Given the description of an element on the screen output the (x, y) to click on. 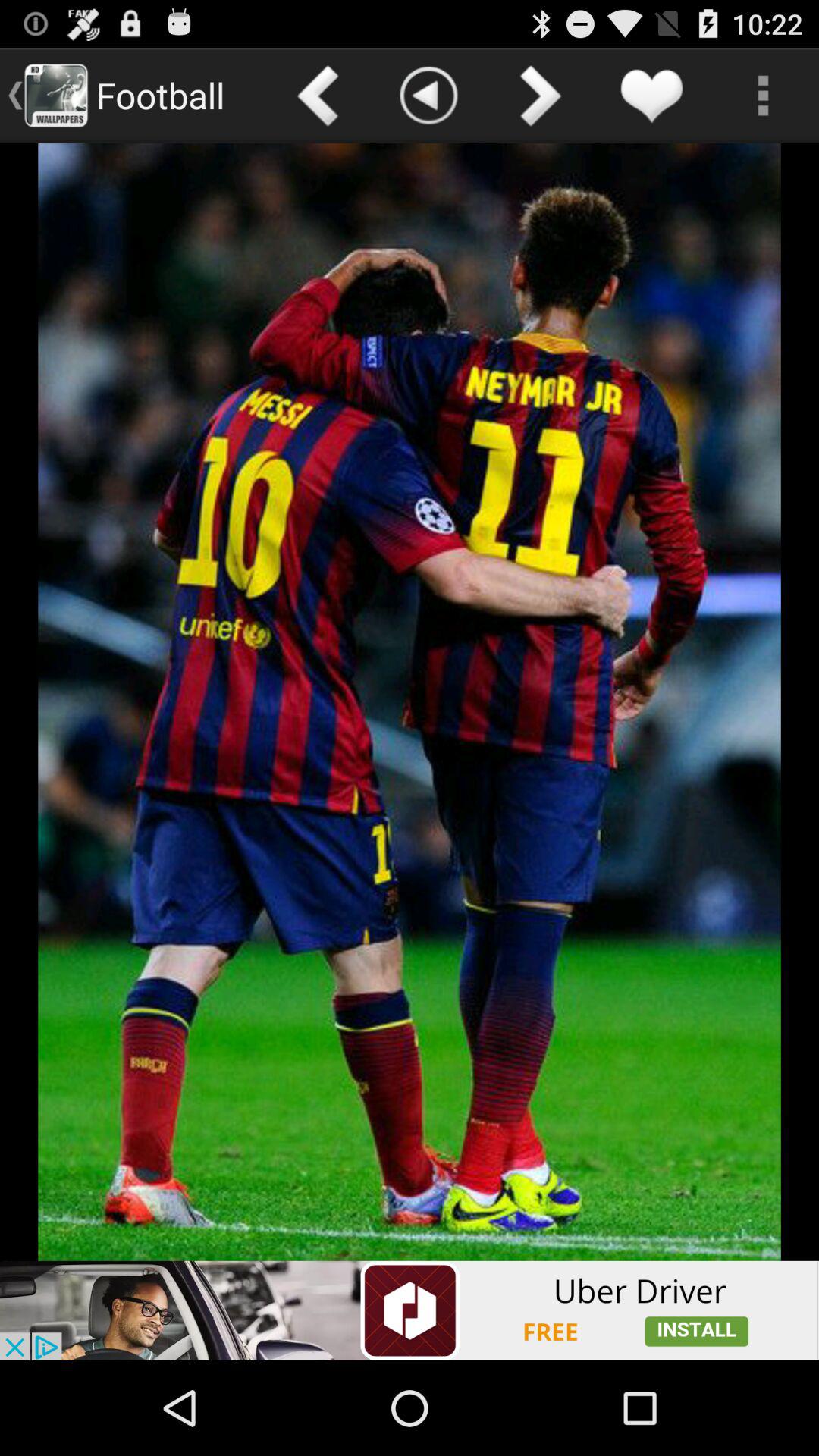
options menu (763, 95)
